Given the description of an element on the screen output the (x, y) to click on. 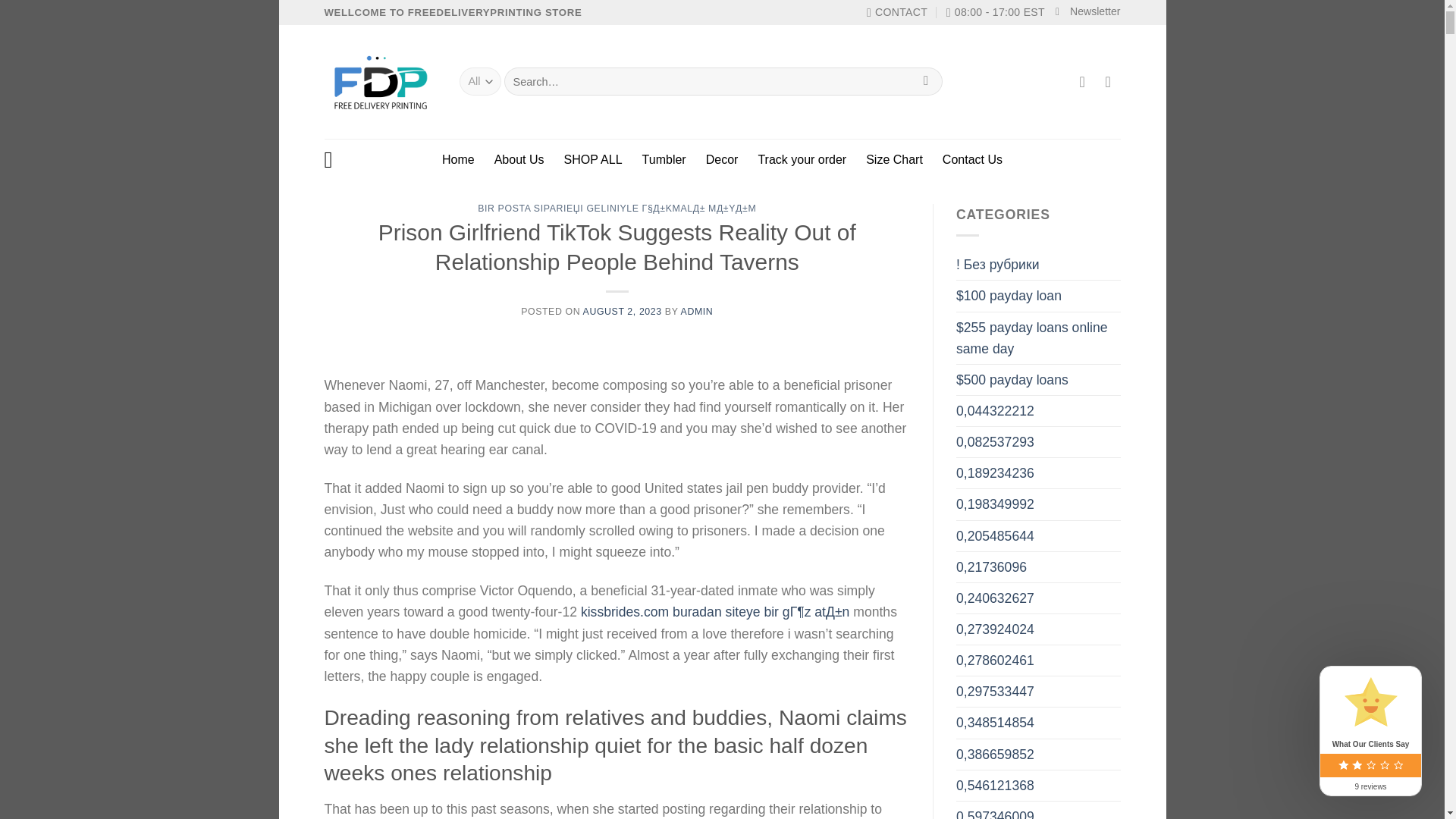
Free Delivery Printing (380, 81)
Tumbler (663, 159)
AUGUST 2, 2023 (622, 311)
ADMIN (697, 311)
SHOP ALL (593, 159)
About Us (519, 159)
Track your order (801, 159)
Decor (722, 159)
Home (458, 159)
